Given the description of an element on the screen output the (x, y) to click on. 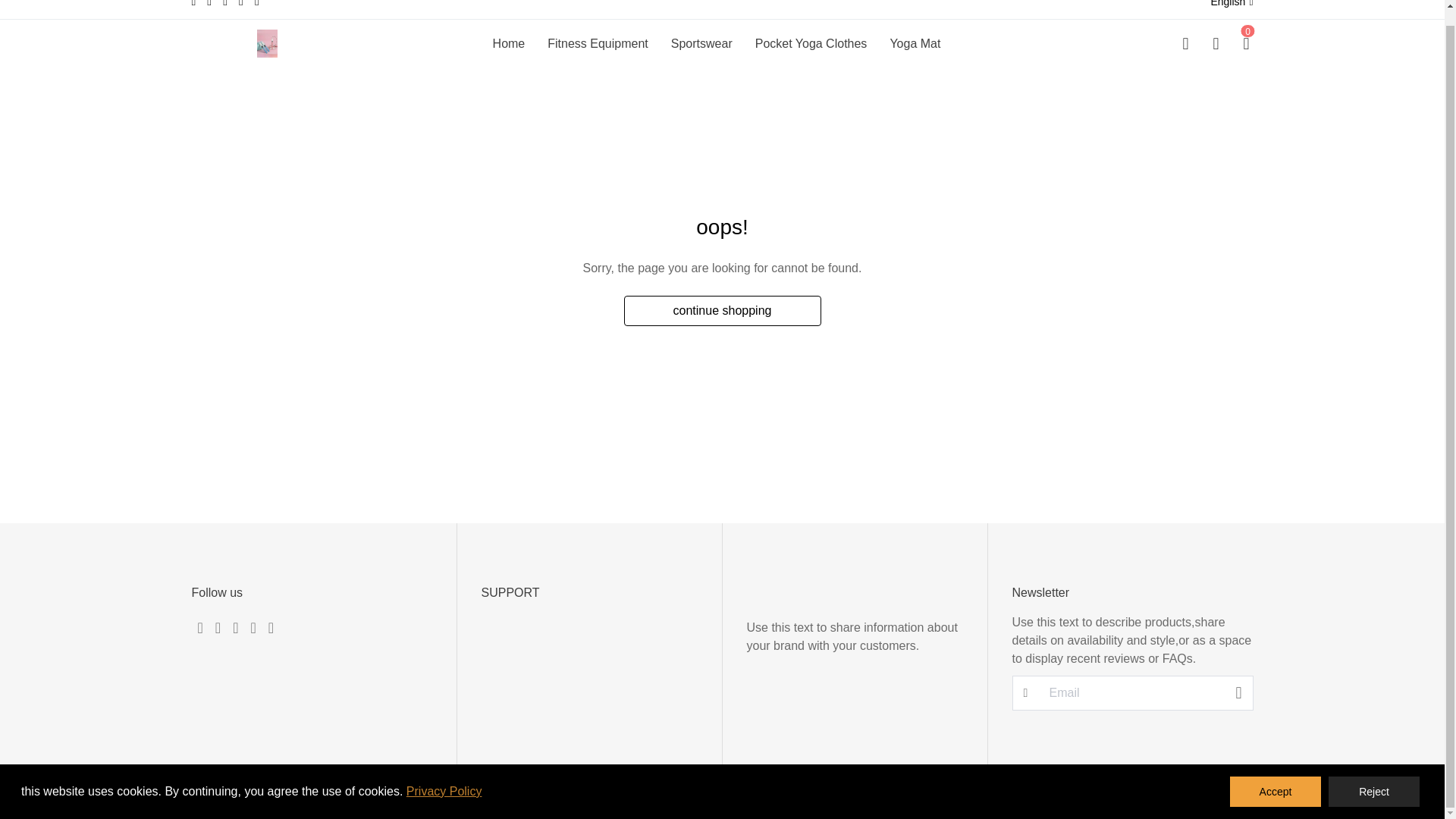
Pocket Yoga Clothes (811, 44)
continue shopping (722, 310)
Home (509, 44)
Yoga Mat (914, 44)
Fitness Equipment (597, 44)
Sportswear (701, 44)
Privacy Policy (443, 775)
